Given the description of an element on the screen output the (x, y) to click on. 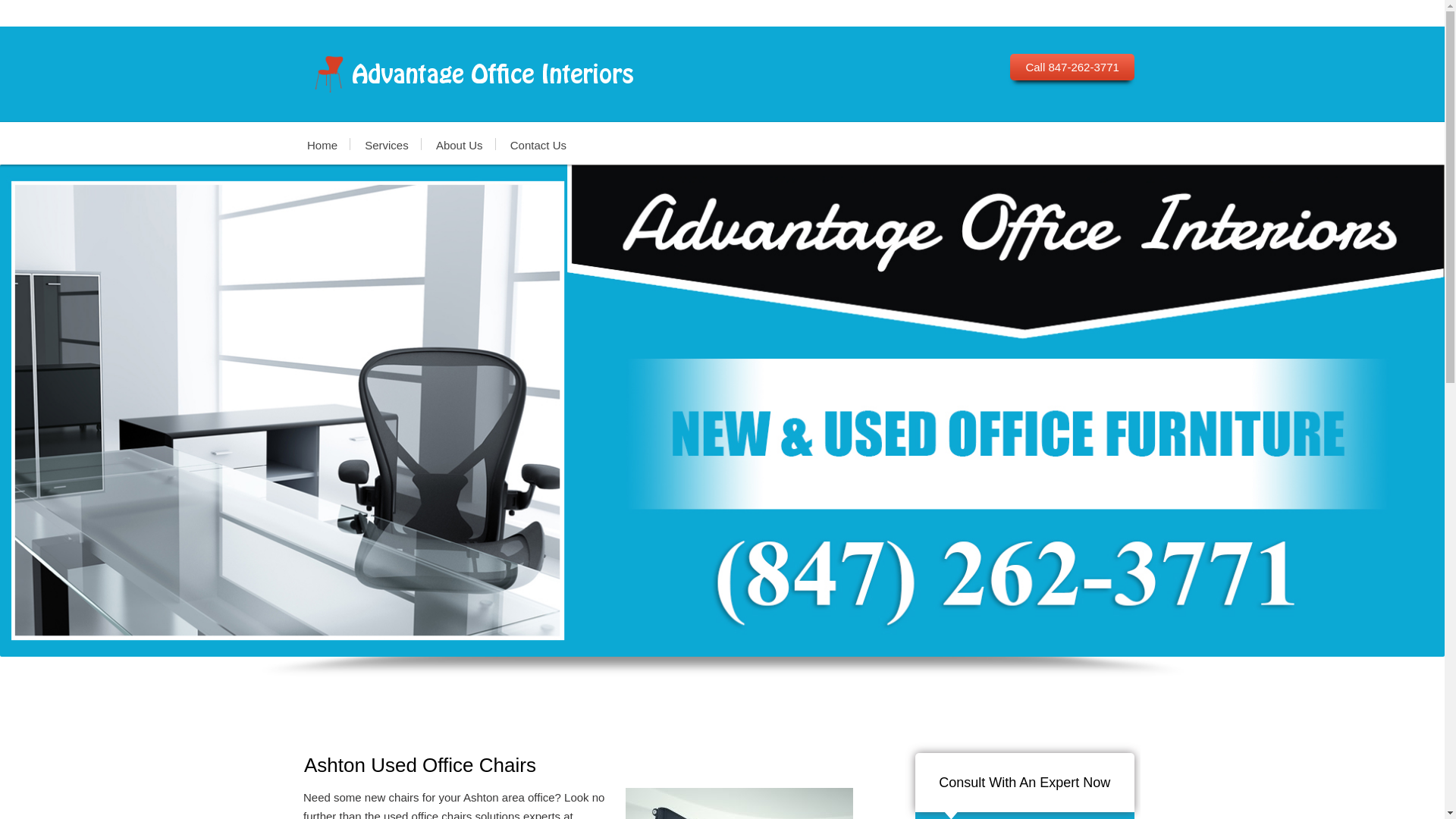
About Us (459, 143)
Home (328, 143)
Services (386, 143)
Contact Us (537, 143)
